Given the description of an element on the screen output the (x, y) to click on. 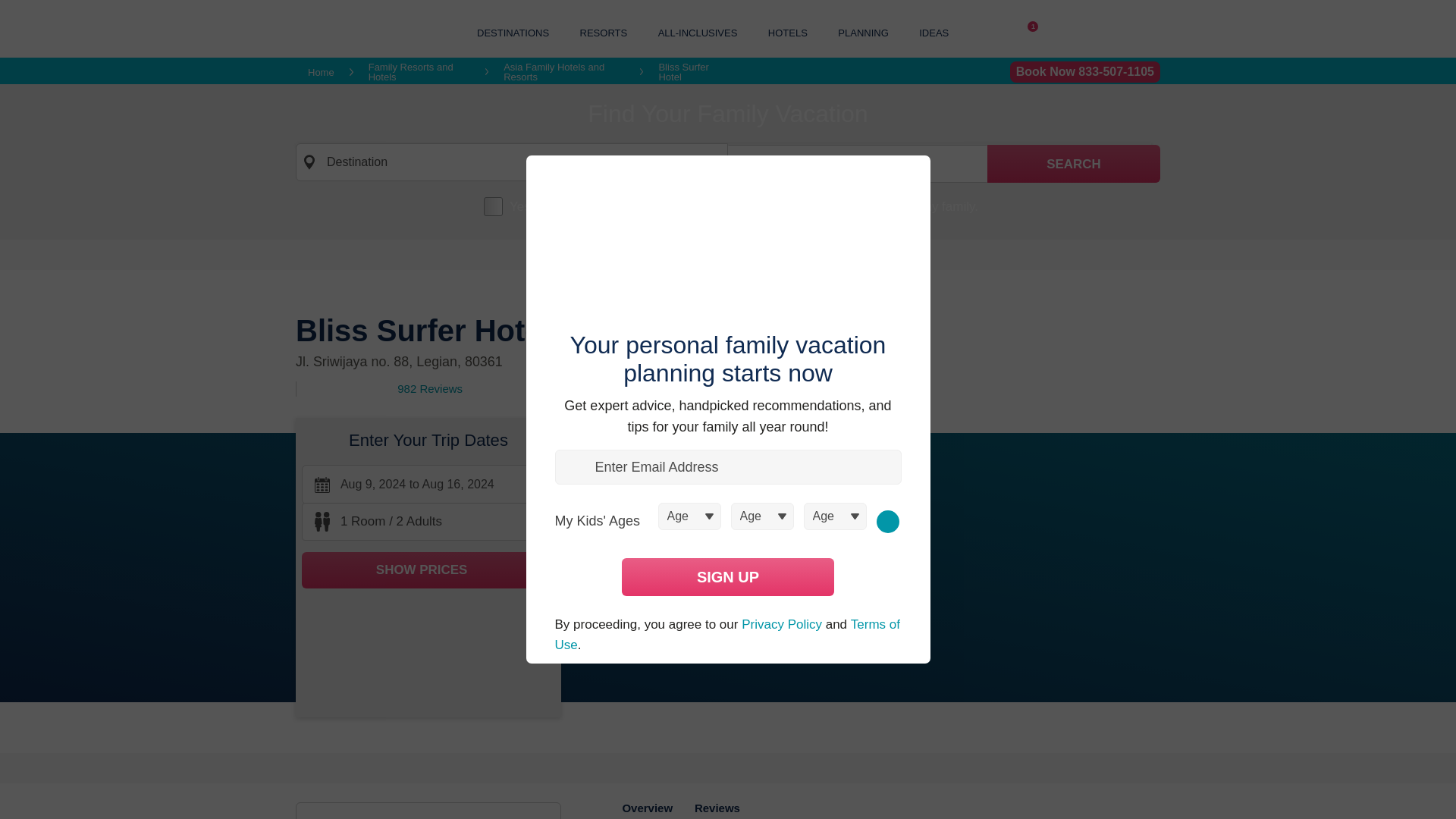
Sign Up (727, 576)
Search (1073, 163)
HOTELS (788, 32)
SHOW PRICES (427, 570)
Aug 9, 2024 to Aug 16, 2024 (427, 484)
Asia Family Hotels and Resorts (563, 71)
Home (320, 71)
982 Reviews (430, 388)
Visit Family Vacation Critic on Instagram! (998, 32)
PLANNING (863, 32)
Book Now 833-507-1105 (1085, 71)
Search (1073, 163)
Search (1073, 163)
DESTINATIONS (512, 32)
IDEAS (933, 32)
